Given the description of an element on the screen output the (x, y) to click on. 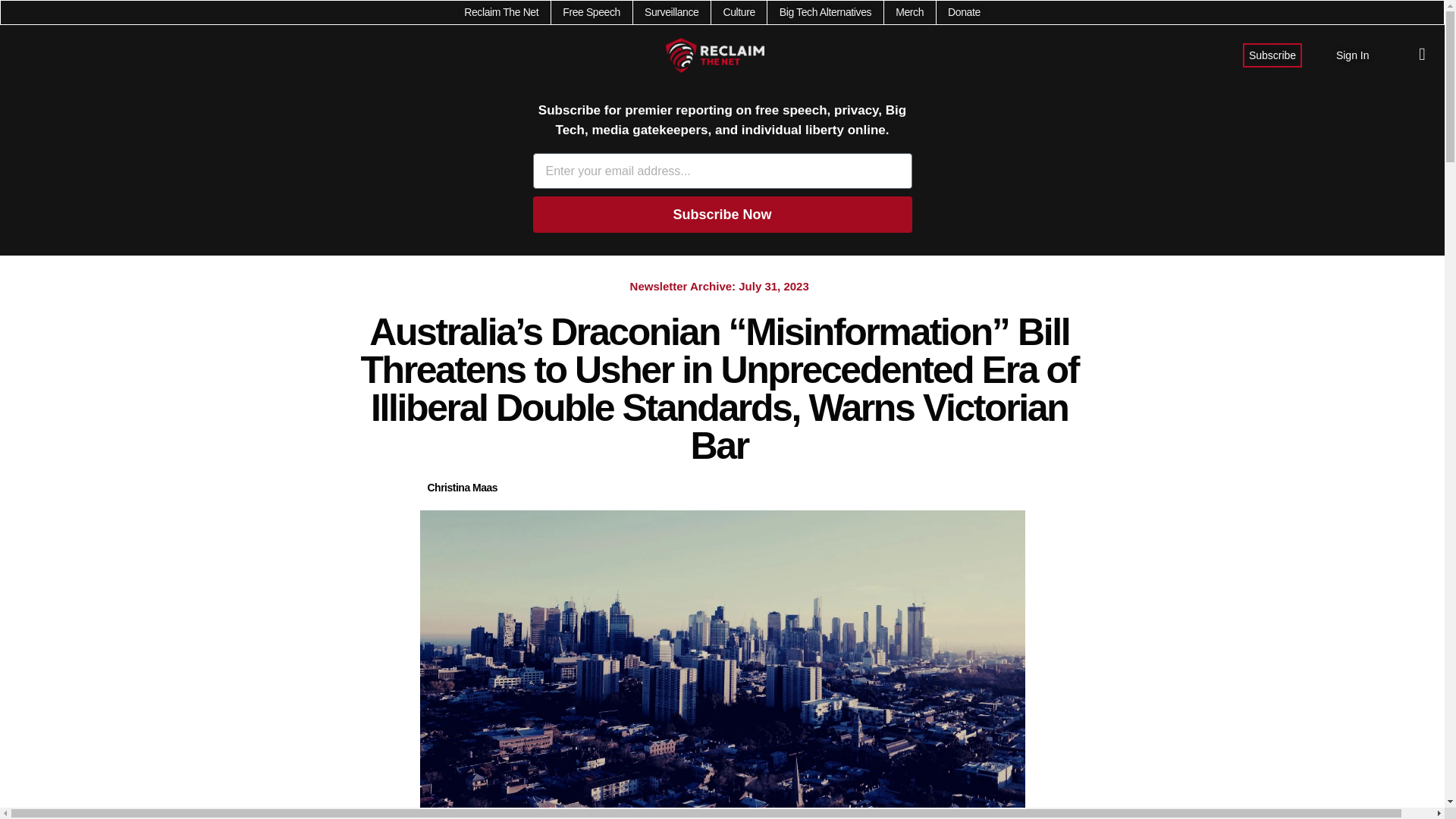
Free Speech (591, 12)
Subscribe (1272, 55)
Culture (738, 12)
Merch (909, 12)
Subscribe Now (721, 214)
Big Tech Alternatives (824, 12)
Surveillance (671, 12)
Reclaim The Net (501, 12)
Sign In (1353, 55)
Donate (963, 12)
